Given the description of an element on the screen output the (x, y) to click on. 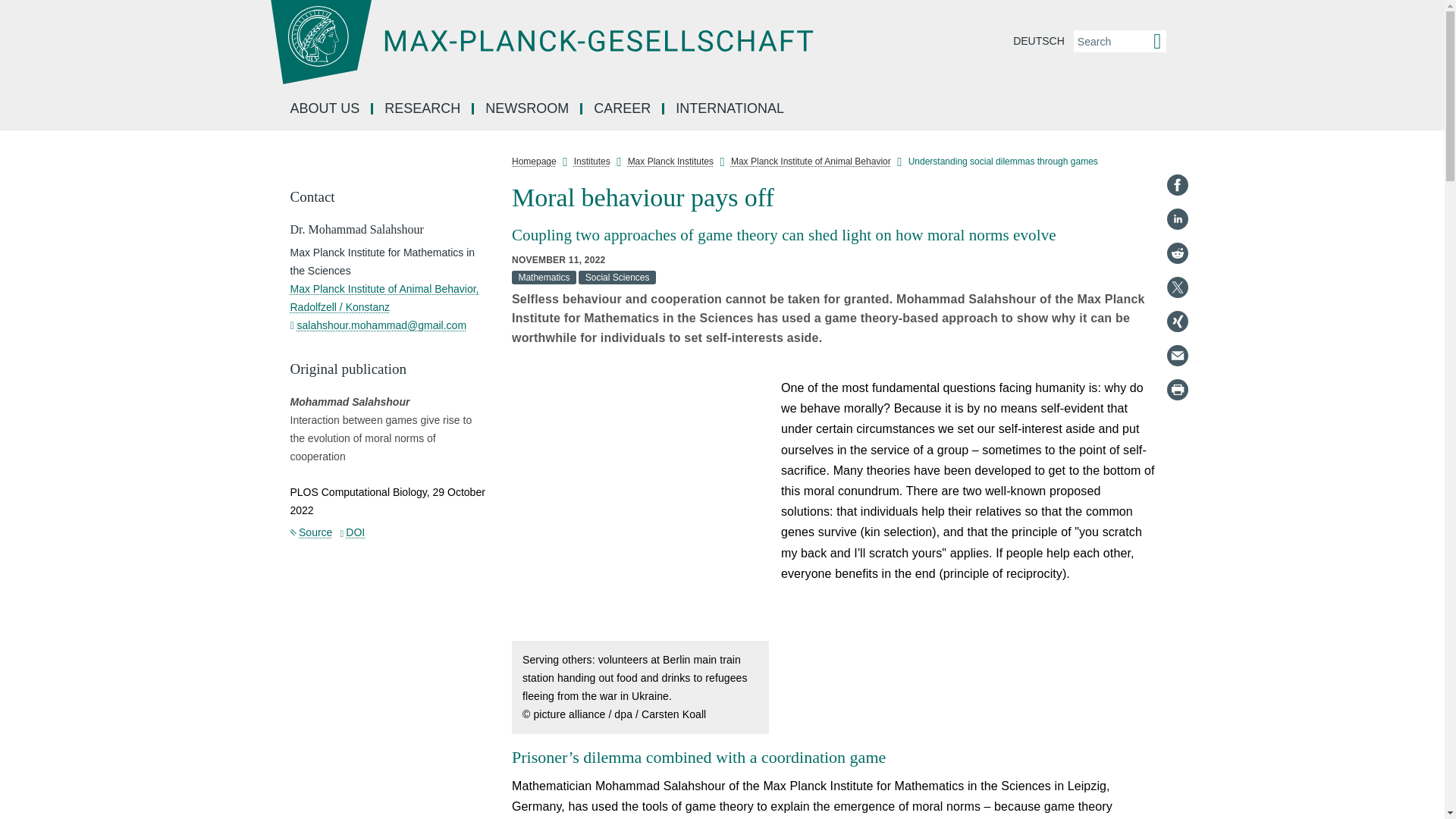
Xing (1177, 321)
DEUTSCH (1038, 41)
Facebook (1177, 184)
E-Mail (1177, 354)
ABOUT US (326, 108)
opens zoom view (640, 508)
Print (1177, 389)
Twitter (1177, 287)
Reddit (1177, 252)
LinkedIn (1177, 219)
